Given the description of an element on the screen output the (x, y) to click on. 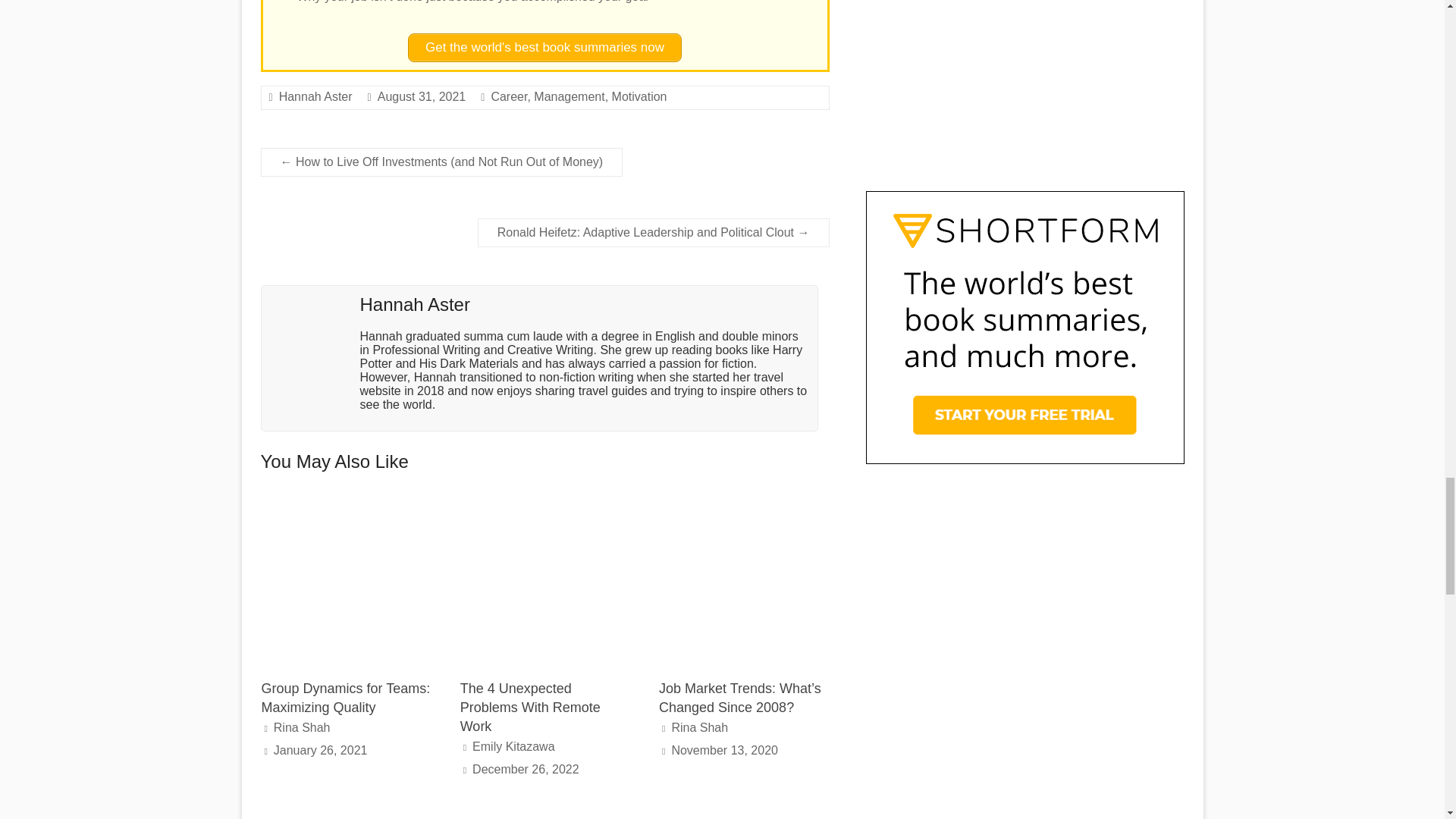
Management (569, 96)
Rina Shah (301, 727)
The 4 Unexpected Problems With Remote Work (545, 580)
Emily Kitazawa (512, 746)
6:38 pm (525, 768)
Group Dynamics for Teams: Maximizing Quality (345, 580)
Group Dynamics for Teams: Maximizing Quality (345, 502)
Career (508, 96)
January 26, 2021 (320, 749)
August 31, 2021 (421, 96)
